Given the description of an element on the screen output the (x, y) to click on. 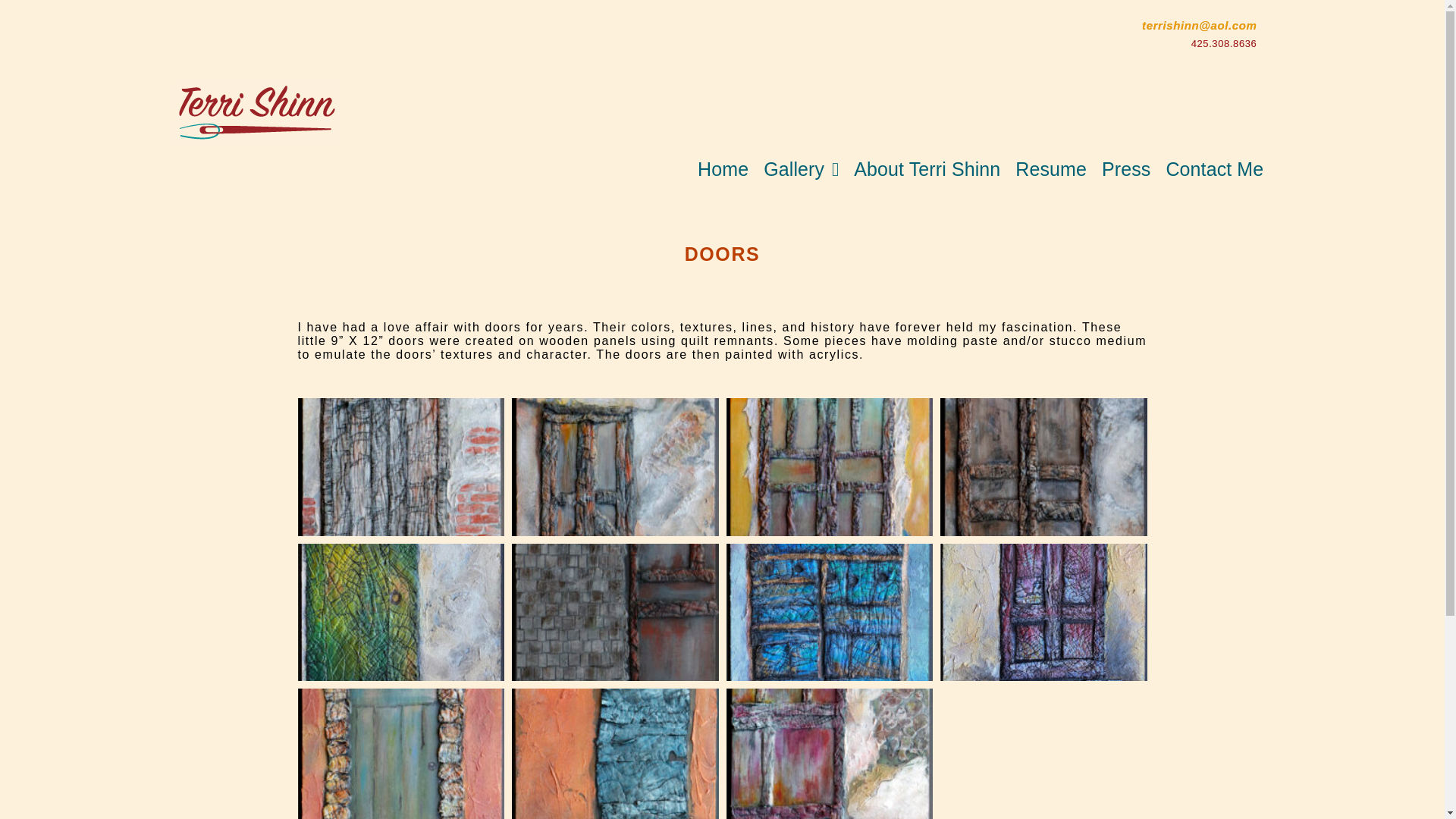
Contact Me (1214, 169)
About Terri Shinn (926, 169)
Press (1125, 169)
Resume (1050, 169)
Gallery (800, 169)
Home (722, 169)
